Given the description of an element on the screen output the (x, y) to click on. 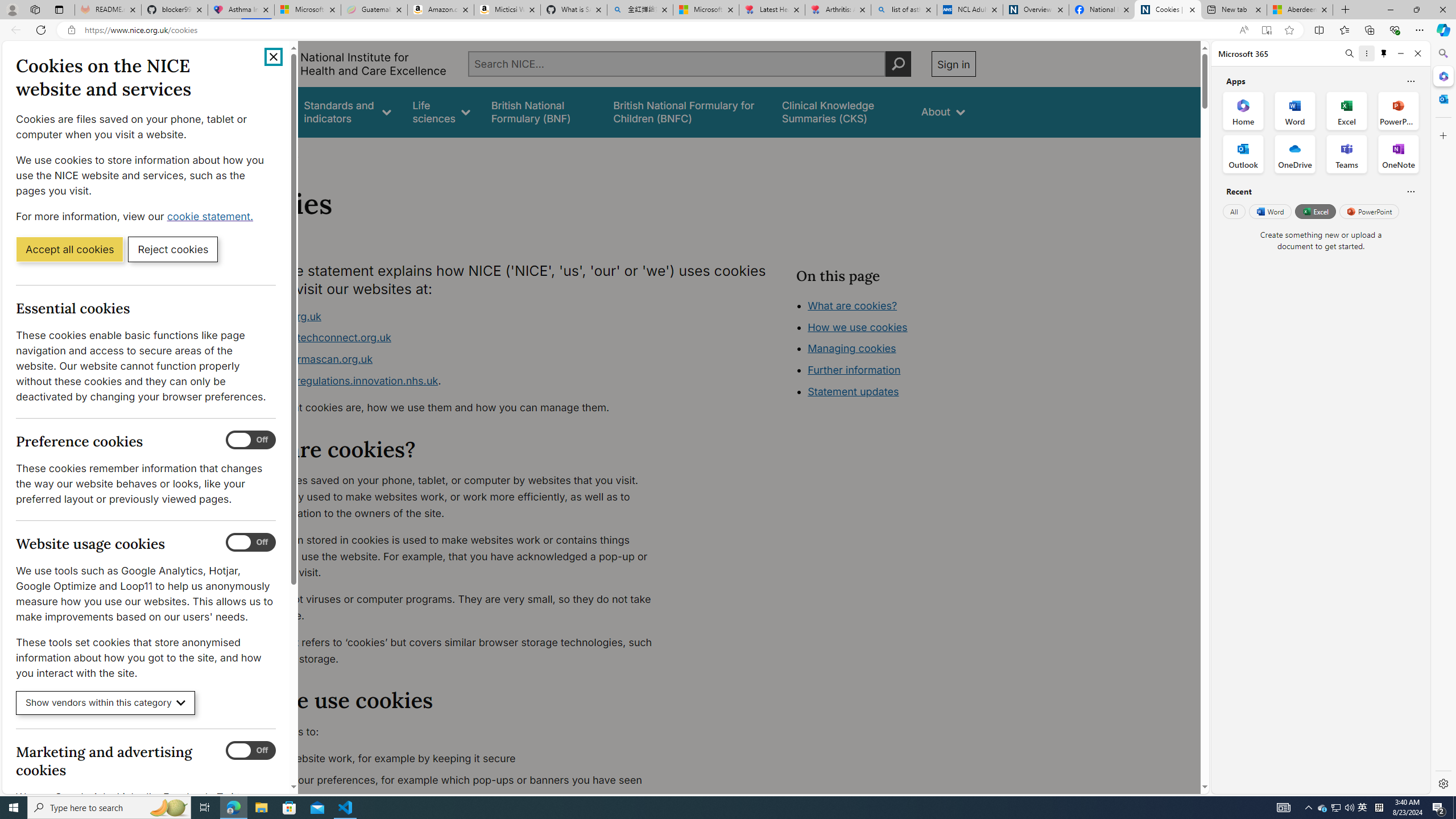
Perform search (898, 63)
What are cookies? (852, 305)
www.nice.org.uk (452, 316)
Aberdeen, Hong Kong SAR hourly forecast | Microsoft Weather (1300, 9)
Preference cookies (250, 439)
British National Formulary for Children (BNFC) (686, 111)
PowerPoint (1369, 210)
Class: in-page-nav__list (884, 349)
Accept all cookies (69, 248)
Excel (1315, 210)
